Given the description of an element on the screen output the (x, y) to click on. 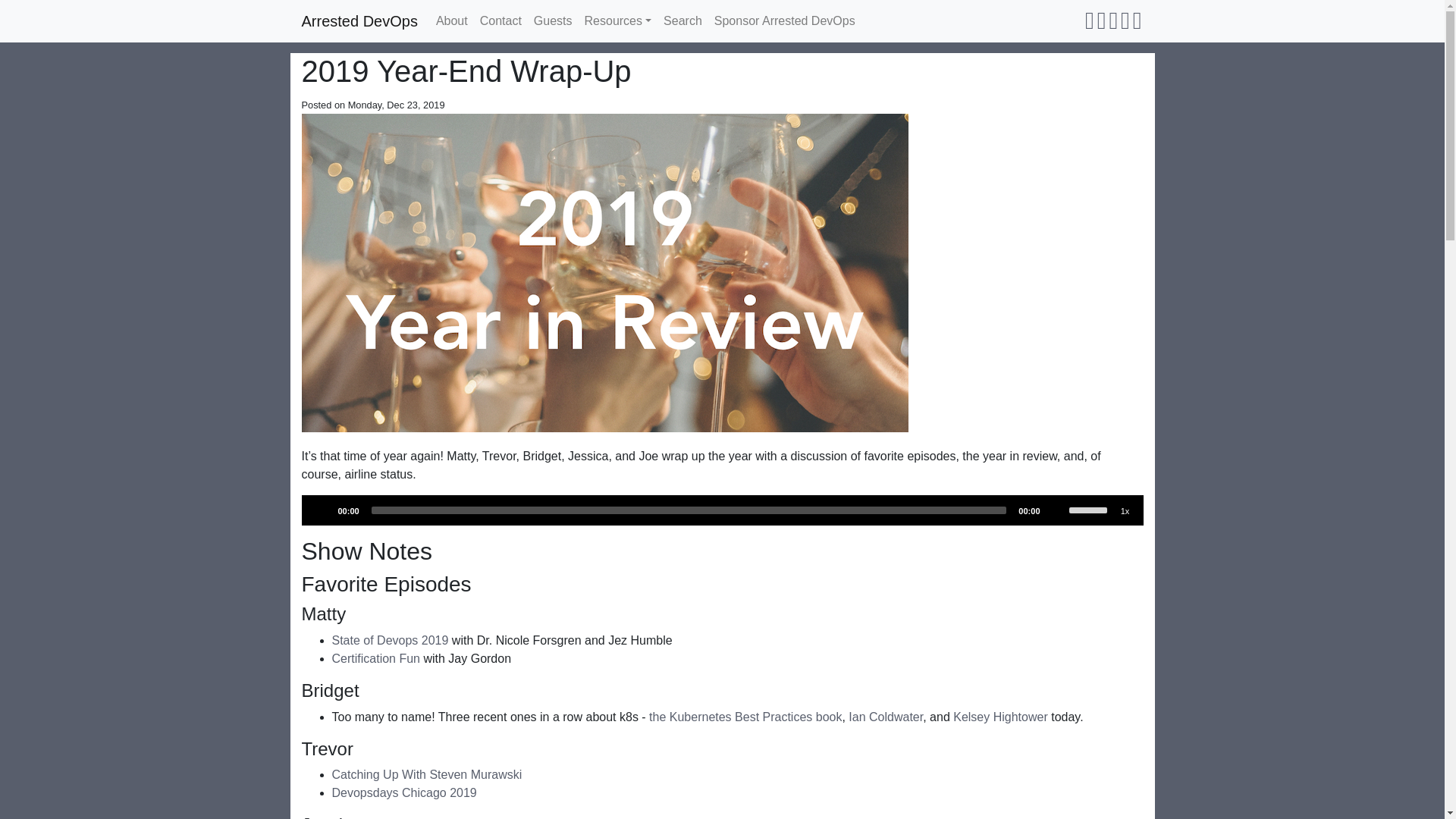
State of Devops 2019 (389, 640)
1x (1125, 510)
Resources (618, 20)
Speed Rate (1125, 510)
Ian Coldwater (885, 716)
Catching Up With Steven Murawski (426, 774)
Search (682, 20)
About (451, 20)
Devopsdays Chicago 2019 (404, 792)
Arrested DevOps (359, 20)
